Given the description of an element on the screen output the (x, y) to click on. 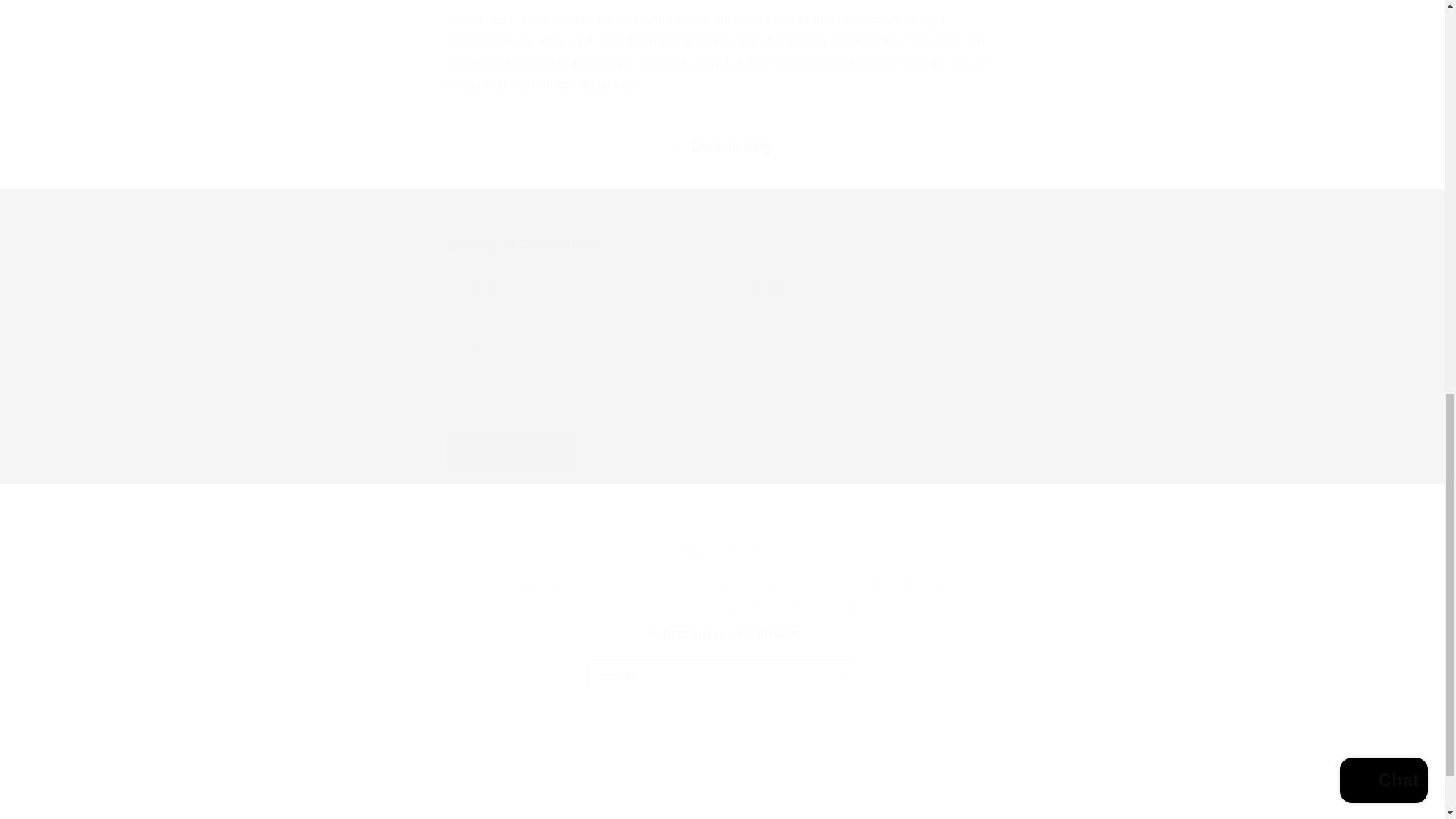
Post comment (721, 659)
